Given the description of an element on the screen output the (x, y) to click on. 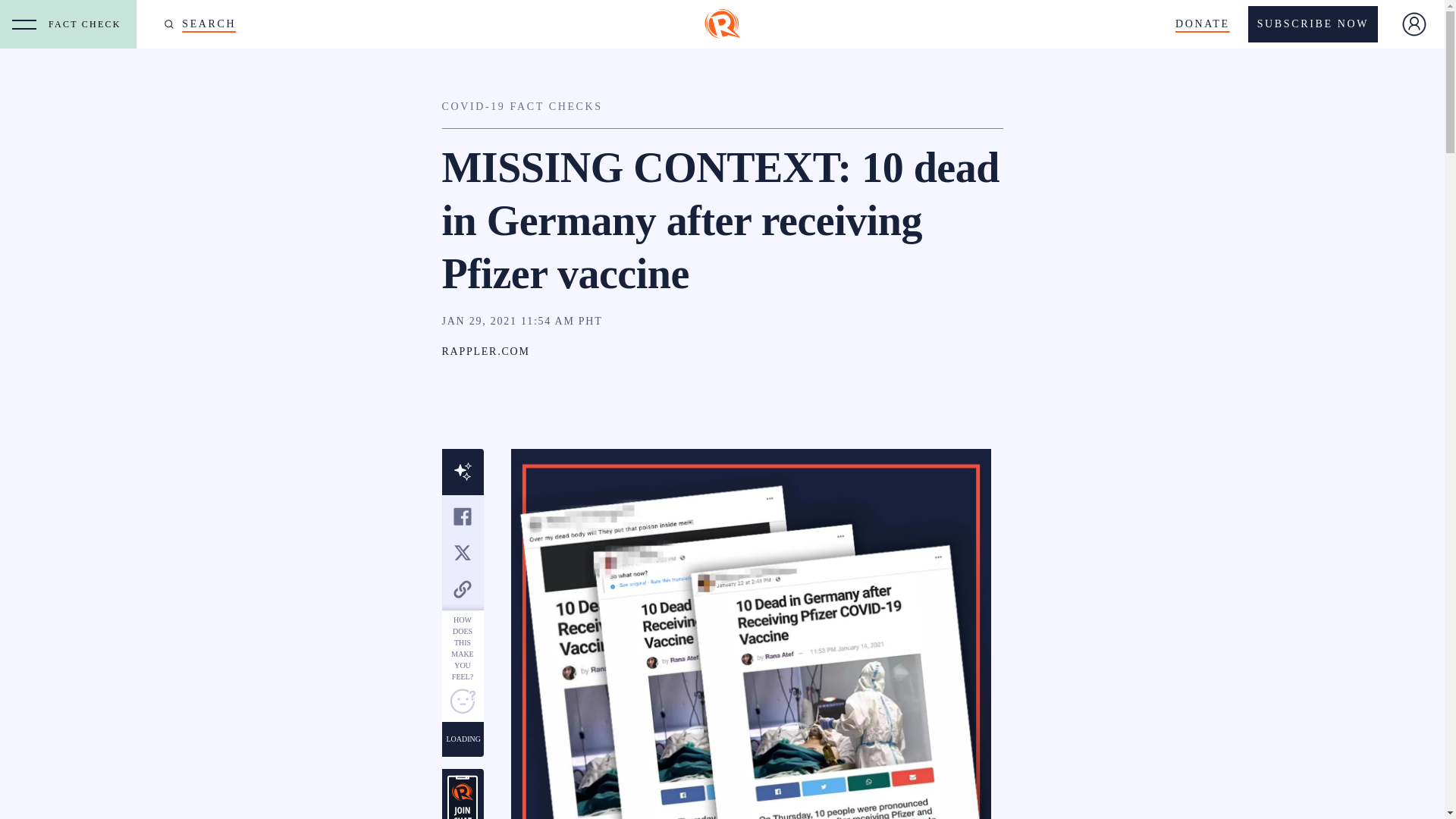
FACT CHECK (88, 23)
OPEN NAVIGATION (24, 24)
